Given the description of an element on the screen output the (x, y) to click on. 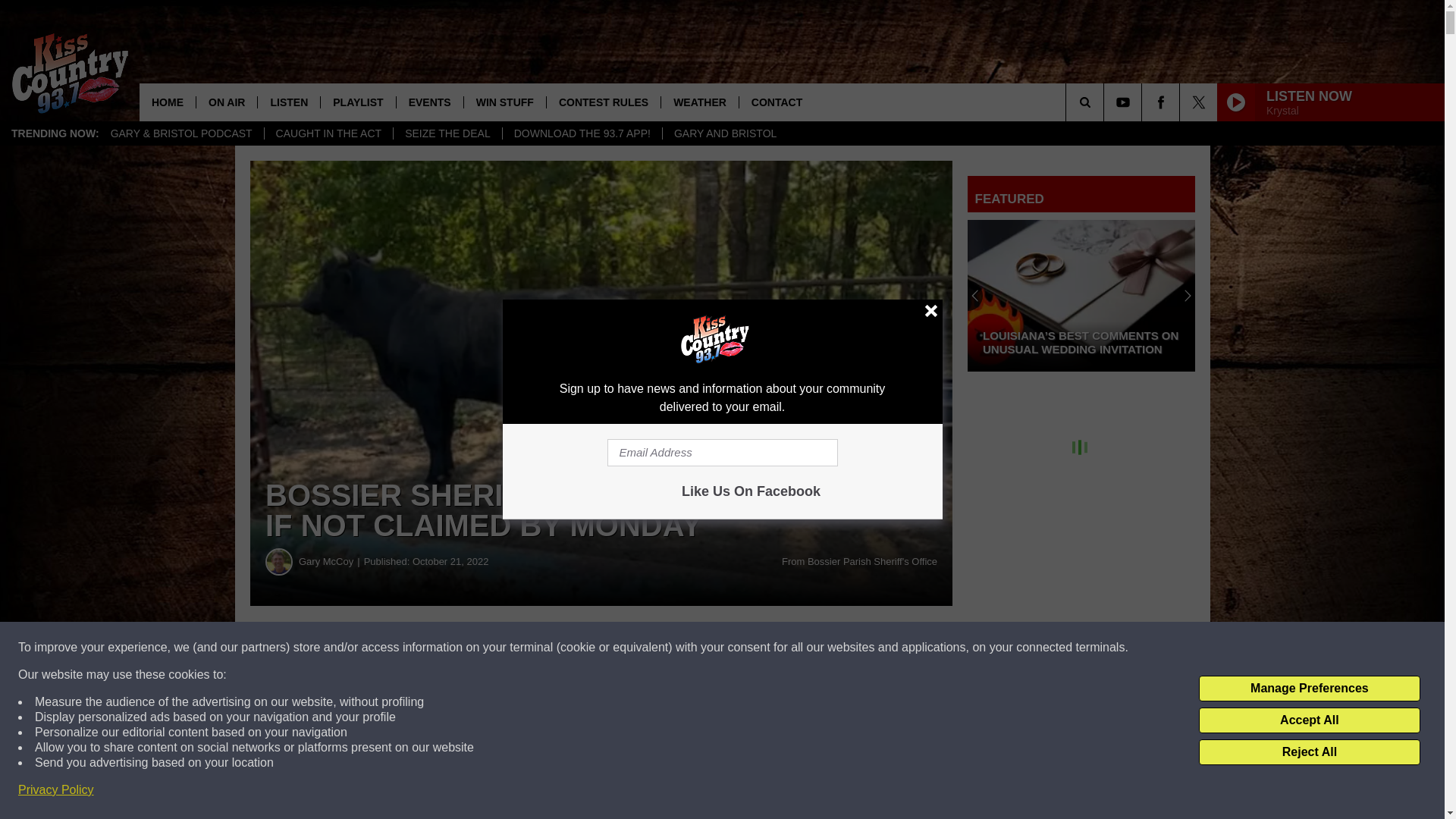
SEIZE THE DEAL (447, 133)
GARY AND BRISTOL (724, 133)
Reject All (1309, 751)
Share on Twitter (741, 647)
CAUGHT IN THE ACT (328, 133)
Email Address (722, 452)
ON AIR (226, 102)
Privacy Policy (55, 789)
LISTEN (288, 102)
SEARCH (1106, 102)
Manage Preferences (1309, 688)
EVENTS (429, 102)
CONTEST RULES (603, 102)
WIN STUFF (504, 102)
HOME (167, 102)
